Given the description of an element on the screen output the (x, y) to click on. 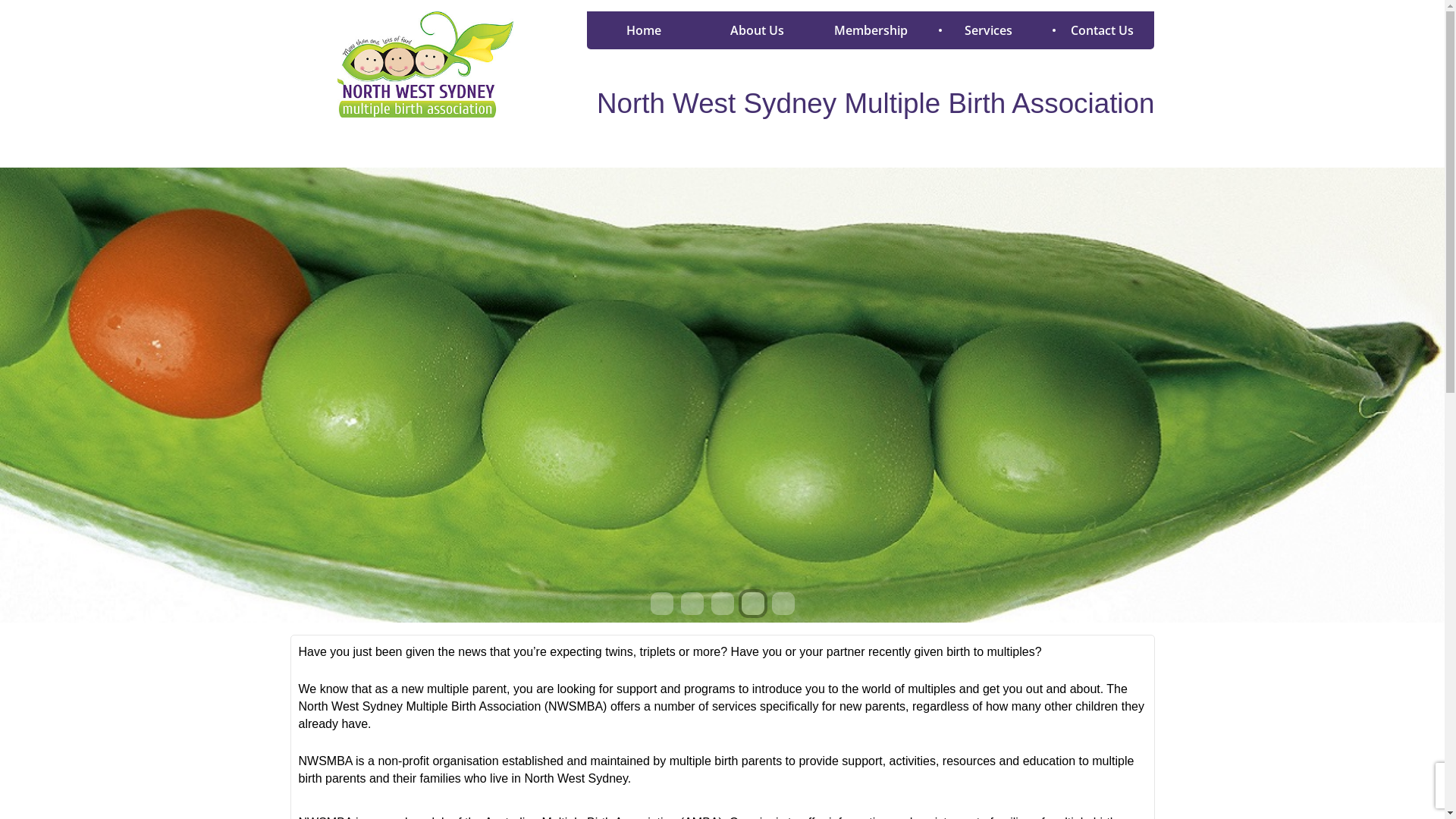
Contact Us Element type: text (1097, 30)
Home Element type: text (643, 30)
Services Element type: text (984, 30)
About Us Element type: text (757, 30)
Membership Element type: text (870, 30)
